Given the description of an element on the screen output the (x, y) to click on. 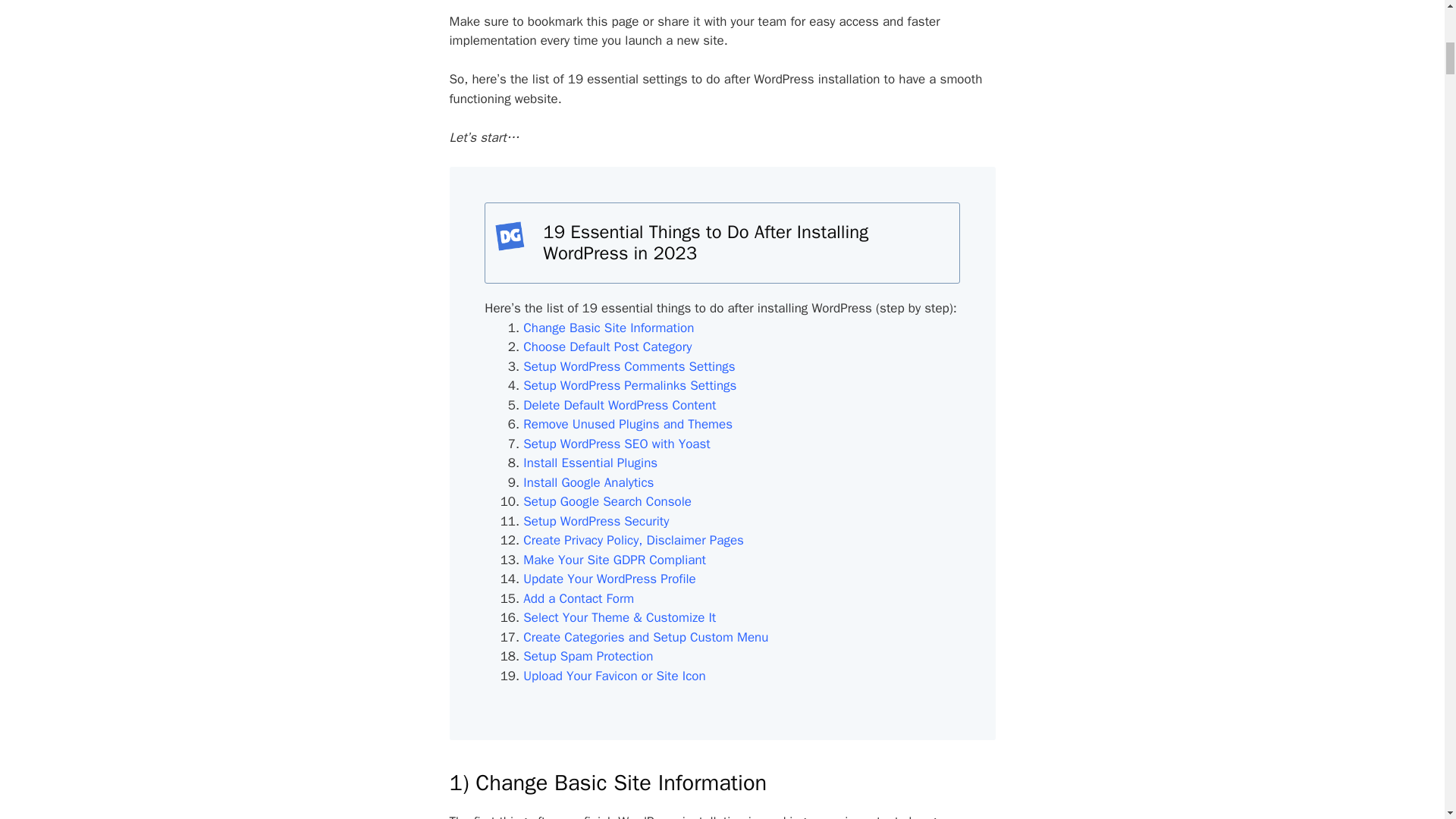
Create Categories and Setup Custom Menu (645, 637)
Setup Google Search Console (606, 501)
Change Basic Site Information (608, 327)
Setup WordPress Permalinks Settings (629, 385)
Setup WordPress SEO with Yoast (616, 443)
Delete Default WordPress Content (619, 405)
Remove Unused Plugins and Themes (627, 424)
Choose Default Post Category (606, 346)
Install Google Analytics (587, 482)
Create Privacy Policy, Disclaimer Pages (633, 539)
